Given the description of an element on the screen output the (x, y) to click on. 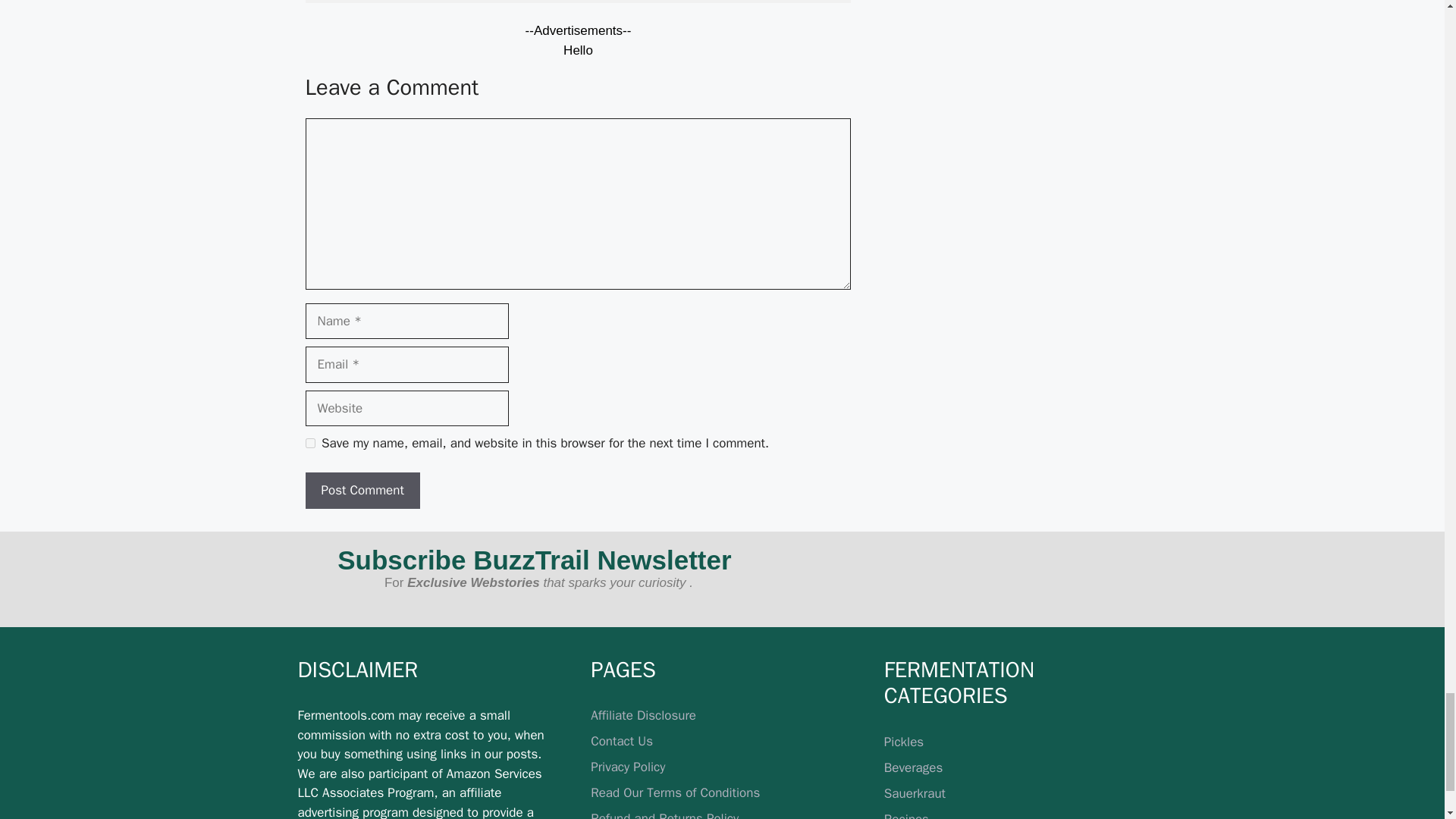
Post Comment (361, 490)
yes (309, 442)
